Given the description of an element on the screen output the (x, y) to click on. 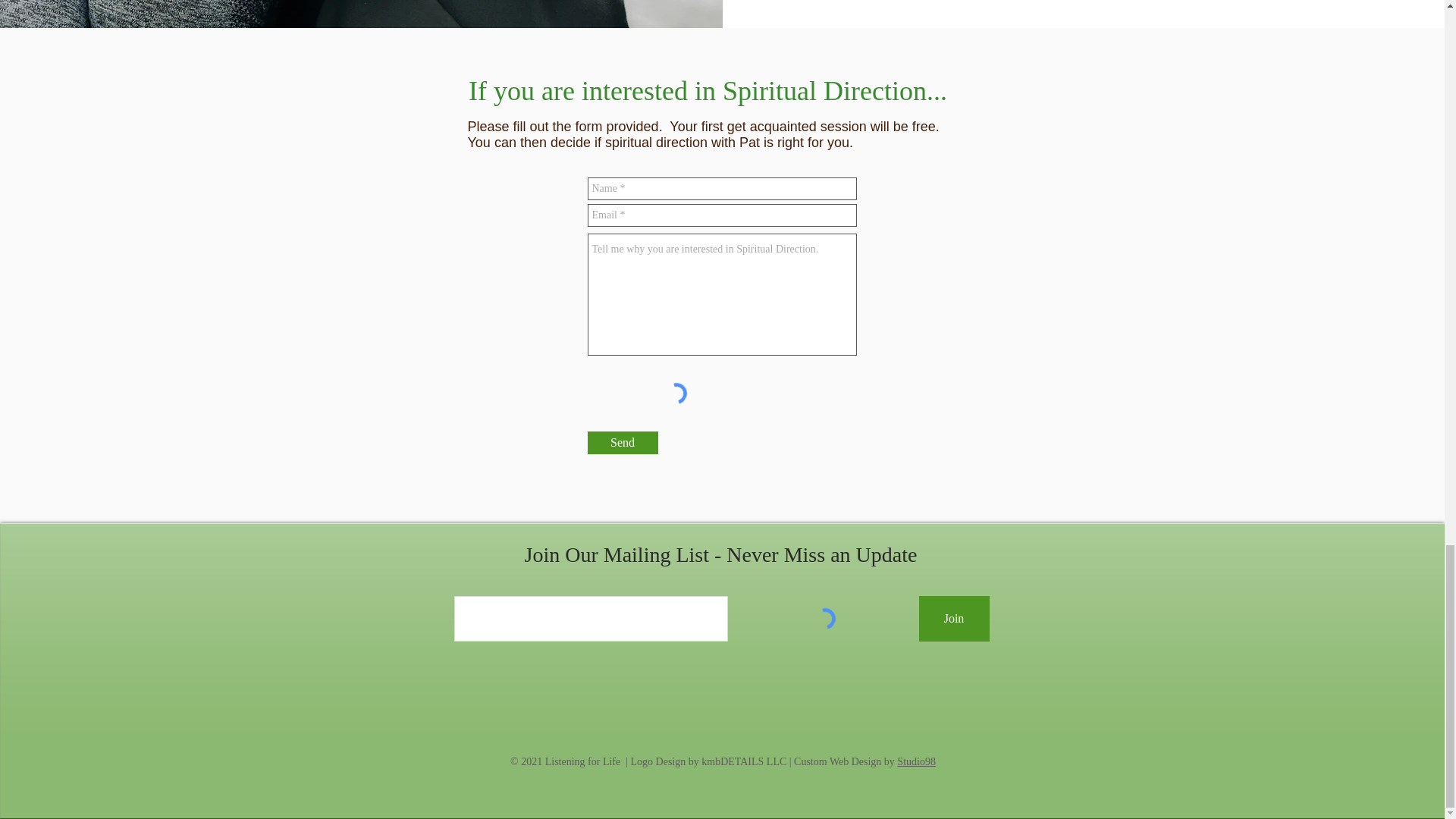
Send (622, 442)
Join (954, 618)
Studio98 (916, 761)
